Given the description of an element on the screen output the (x, y) to click on. 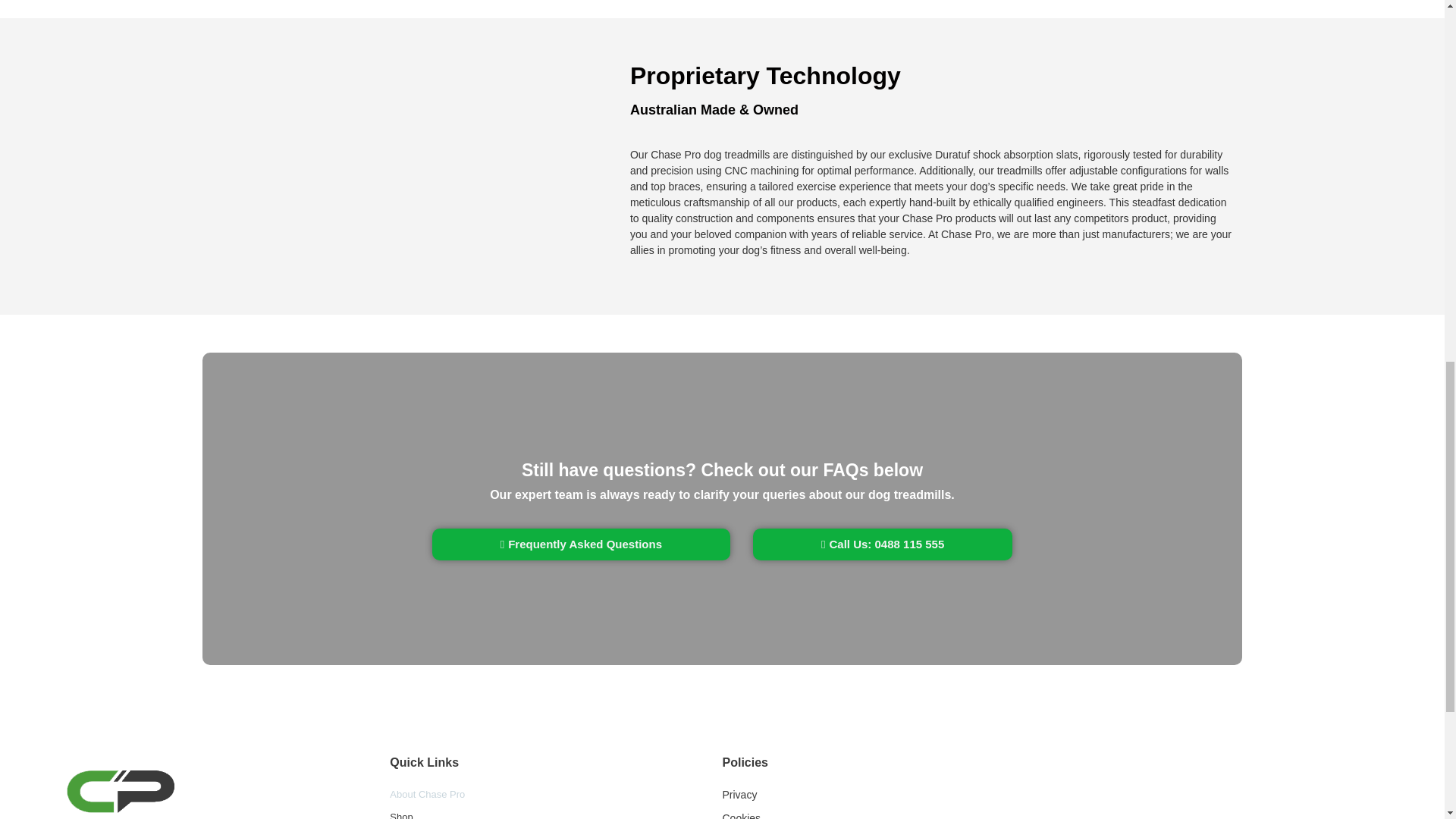
Frequently Asked Questions (581, 544)
About Chase Pro (556, 794)
Call Us: 0488 115 555 (881, 544)
Shop (556, 814)
